Given the description of an element on the screen output the (x, y) to click on. 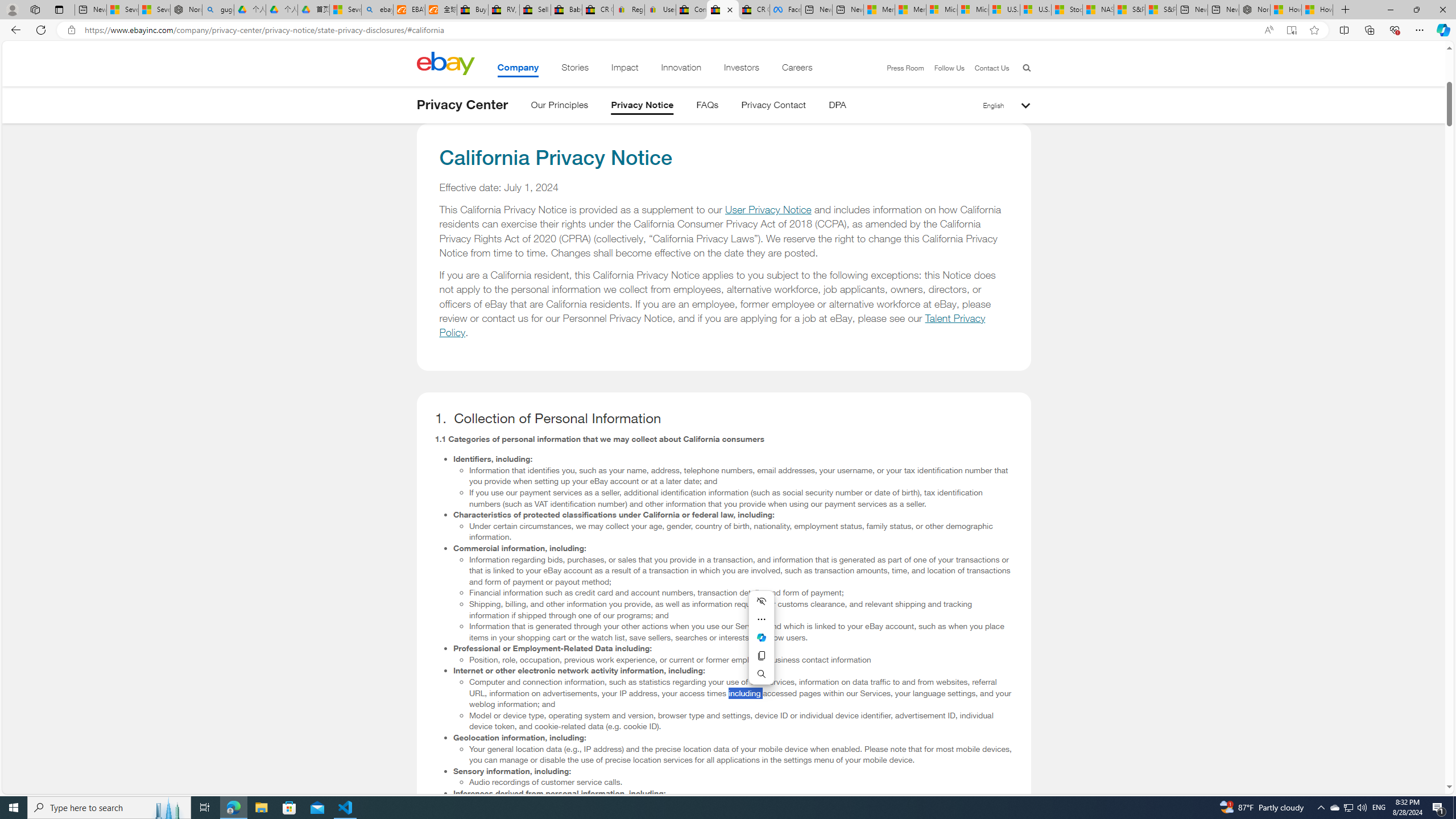
Copy (761, 656)
Facebook (785, 9)
